Given the description of an element on the screen output the (x, y) to click on. 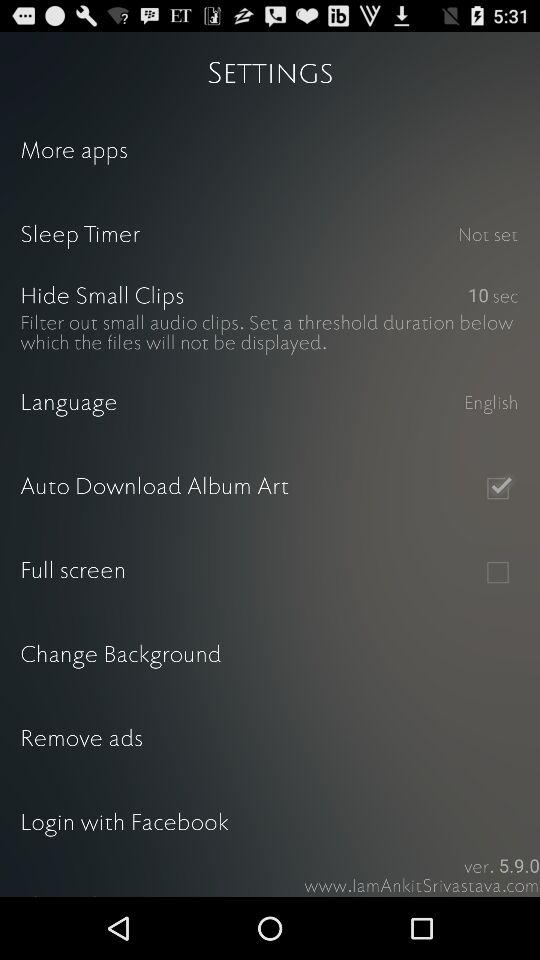
ao ativar esta determinada funcionalidade voc permitira que o aplicativo abra em tela cheio (498, 572)
